Given the description of an element on the screen output the (x, y) to click on. 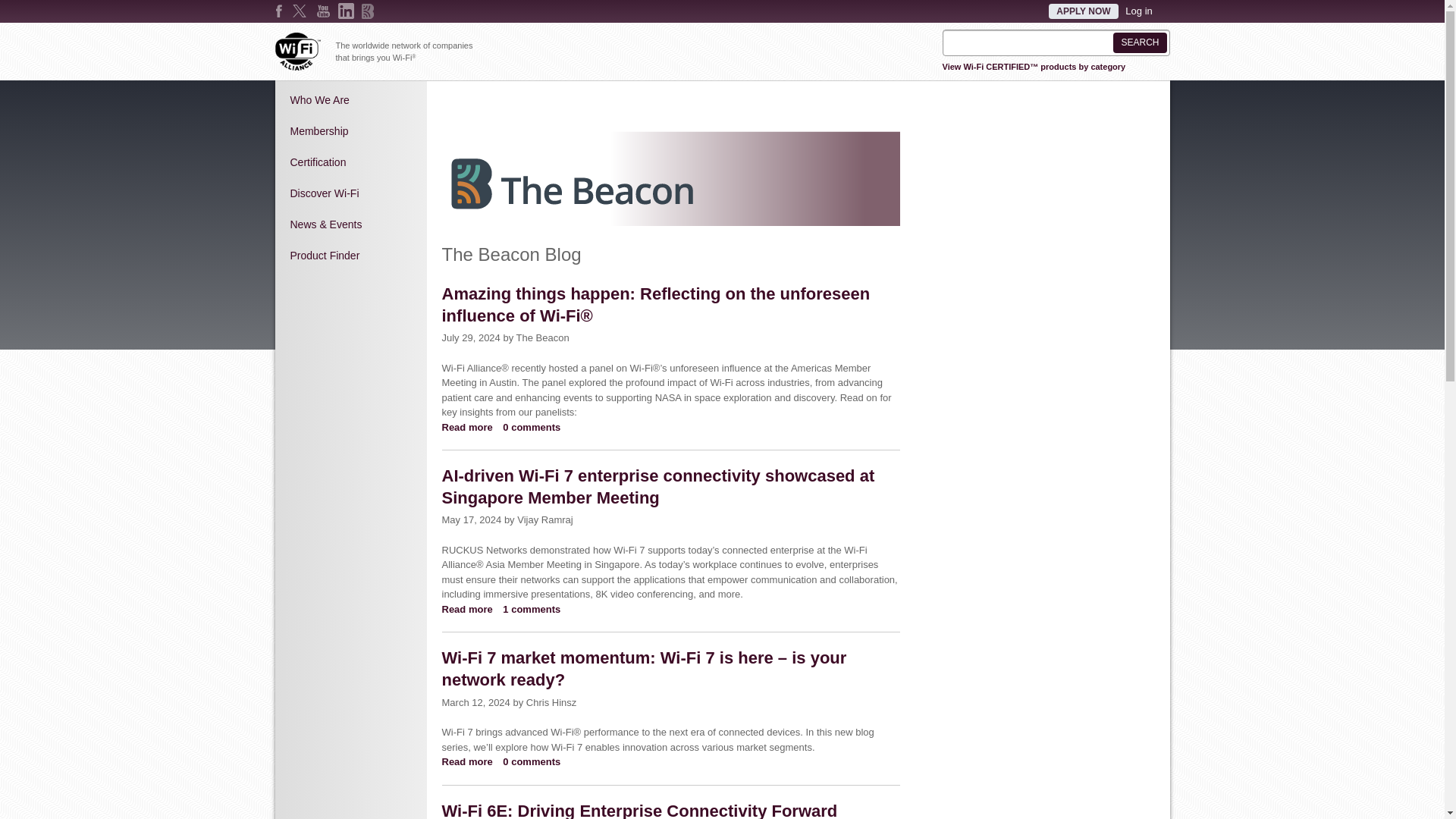
Who We Are (350, 100)
Membership (350, 131)
Discover Wi-Fi (350, 193)
SEARCH (1139, 42)
Log in (1138, 10)
Share to Linkedin (494, 103)
Share to Email (515, 103)
Share to Facebook (452, 103)
APPLY NOW (1083, 11)
